Given the description of an element on the screen output the (x, y) to click on. 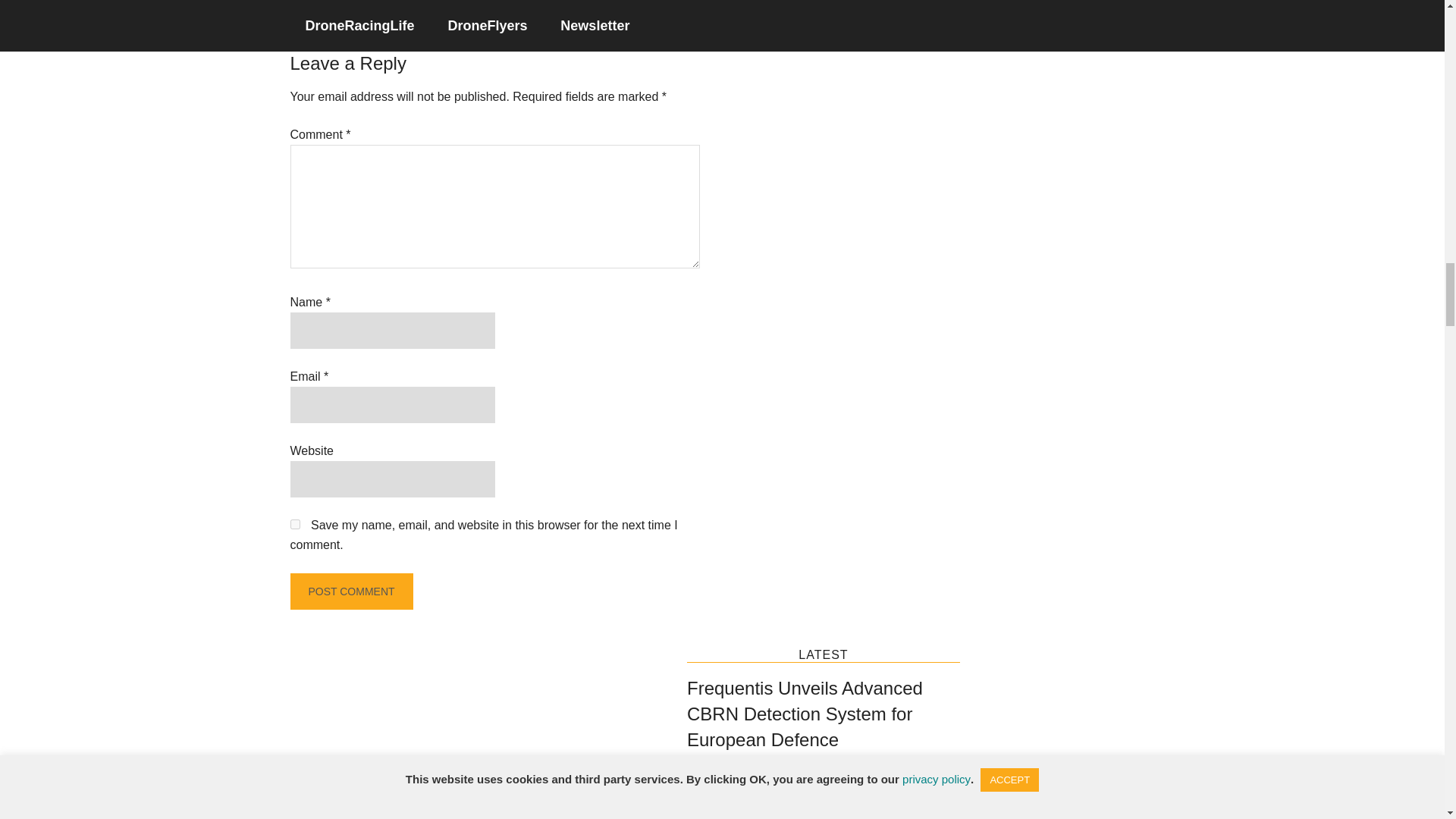
yes (294, 524)
Post Comment (350, 591)
